Given the description of an element on the screen output the (x, y) to click on. 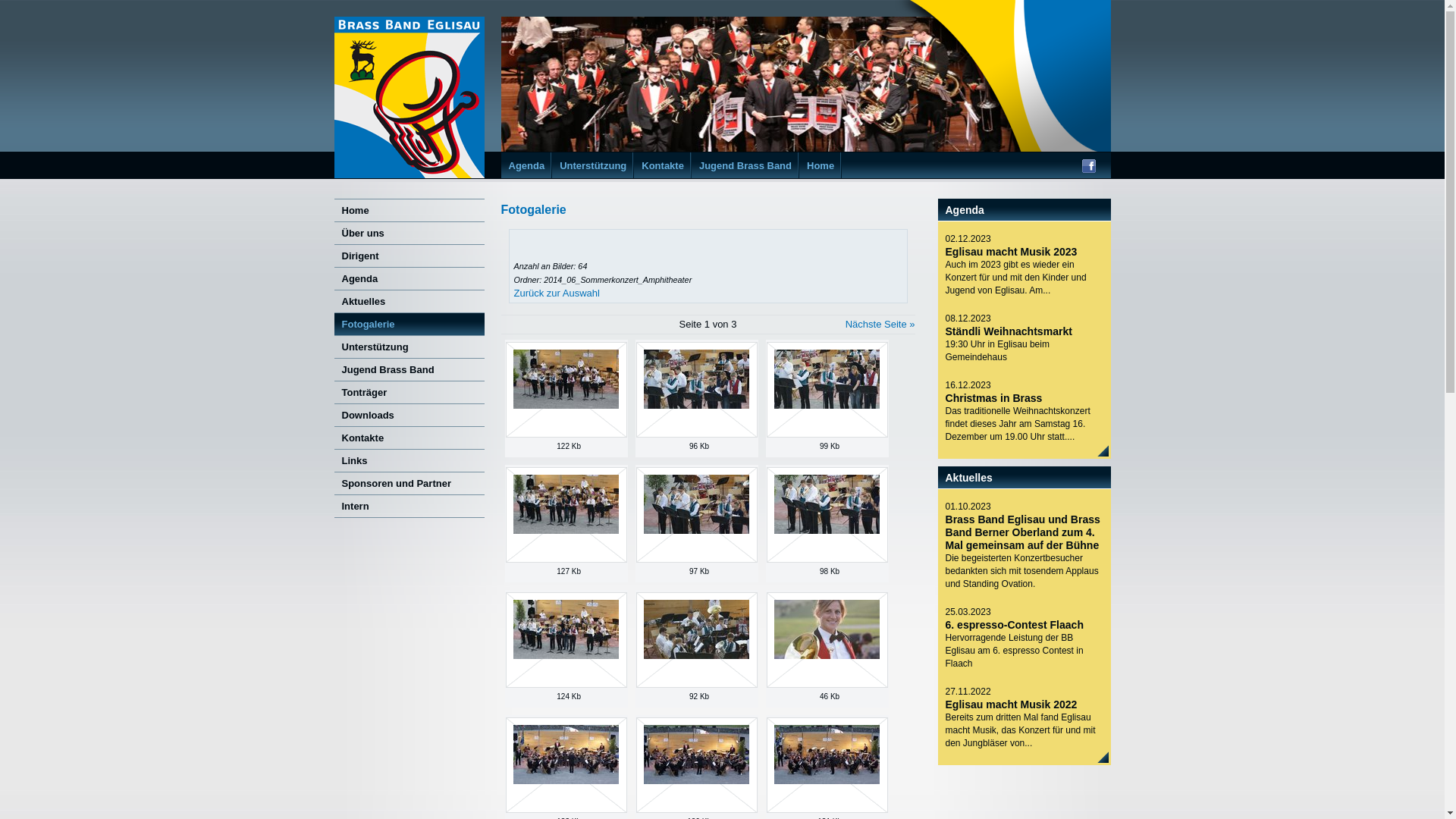
Dirigent Element type: text (408, 255)
Fotogalerie Element type: text (408, 323)
Jugend Brass Band Element type: text (408, 368)
6. espresso-Contest Flaach Element type: text (1013, 624)
Downloads Element type: text (408, 414)
facebook Element type: hover (1088, 168)
Christmas in Brass Element type: text (992, 398)
Jugend Brass Band Element type: text (745, 165)
Intern Element type: text (408, 505)
Eglisau macht Musik 2022 Element type: text (1010, 704)
Links Element type: text (408, 459)
Kontakte Element type: text (662, 165)
Agenda Element type: text (526, 165)
Kontakte Element type: text (408, 437)
Home Element type: text (820, 165)
Aktuelles Element type: text (408, 300)
19:30 Uhr in Eglisau beim Gemeindehaus Element type: text (1023, 351)
Home Element type: text (408, 209)
Eglisau macht Musik 2023 Element type: text (1010, 251)
Sponsoren und Partner Element type: text (408, 482)
Agenda Element type: text (408, 277)
